Given the description of an element on the screen output the (x, y) to click on. 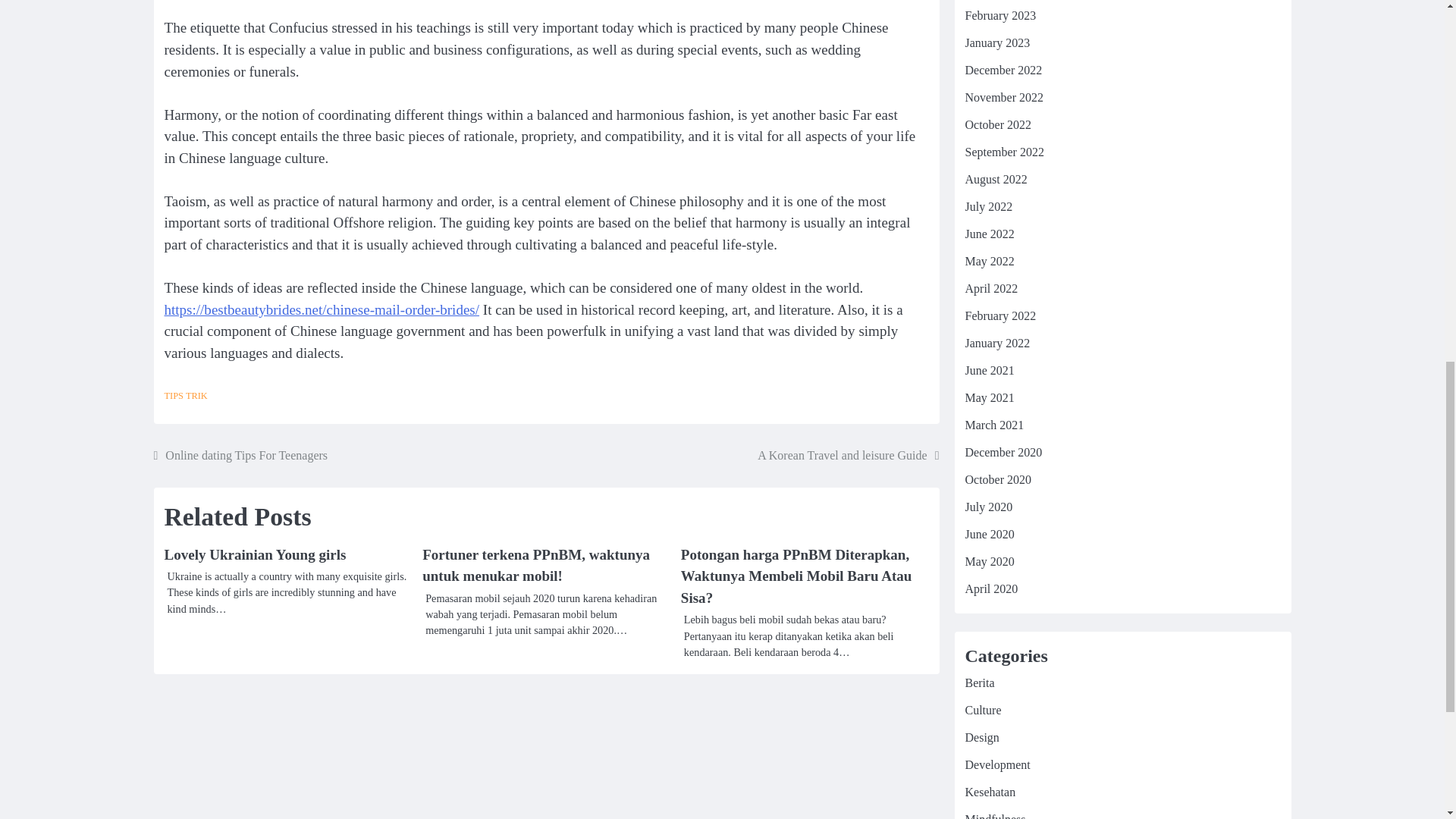
A Korean Travel and leisure Guide (848, 455)
Lovely Ukrainian Young girls (254, 554)
Online dating Tips For Teenagers (239, 455)
Fortuner terkena PPnBM, waktunya untuk menukar mobil! (535, 565)
December 2022 (1002, 69)
January 2023 (996, 42)
February 2023 (999, 15)
TIPS TRIK (184, 395)
